Given the description of an element on the screen output the (x, y) to click on. 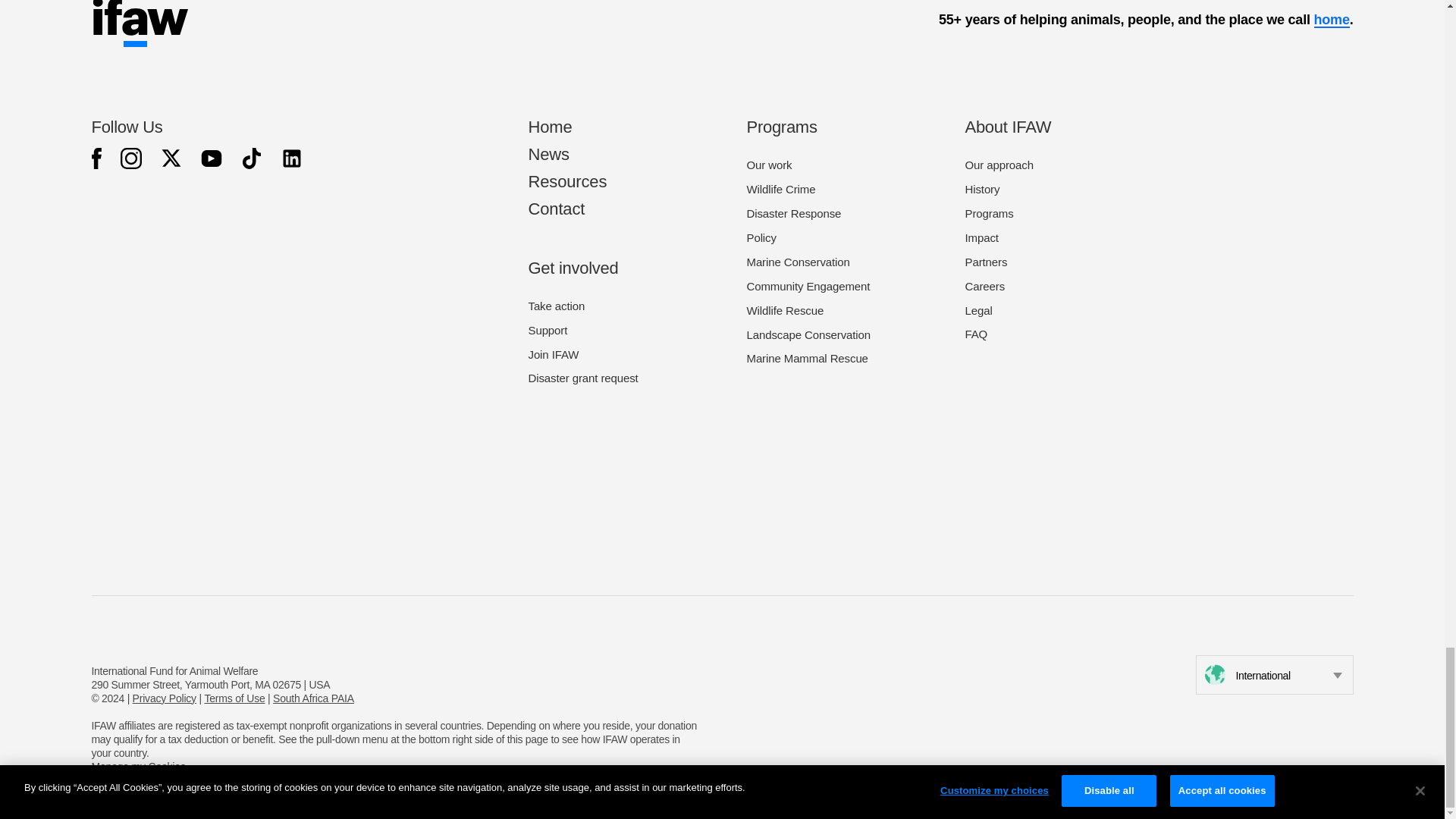
News (548, 153)
home (1331, 19)
Home (549, 126)
Resources (567, 180)
Support (547, 329)
Contact (556, 208)
Join IFAW (552, 354)
Take action (556, 305)
